Given the description of an element on the screen output the (x, y) to click on. 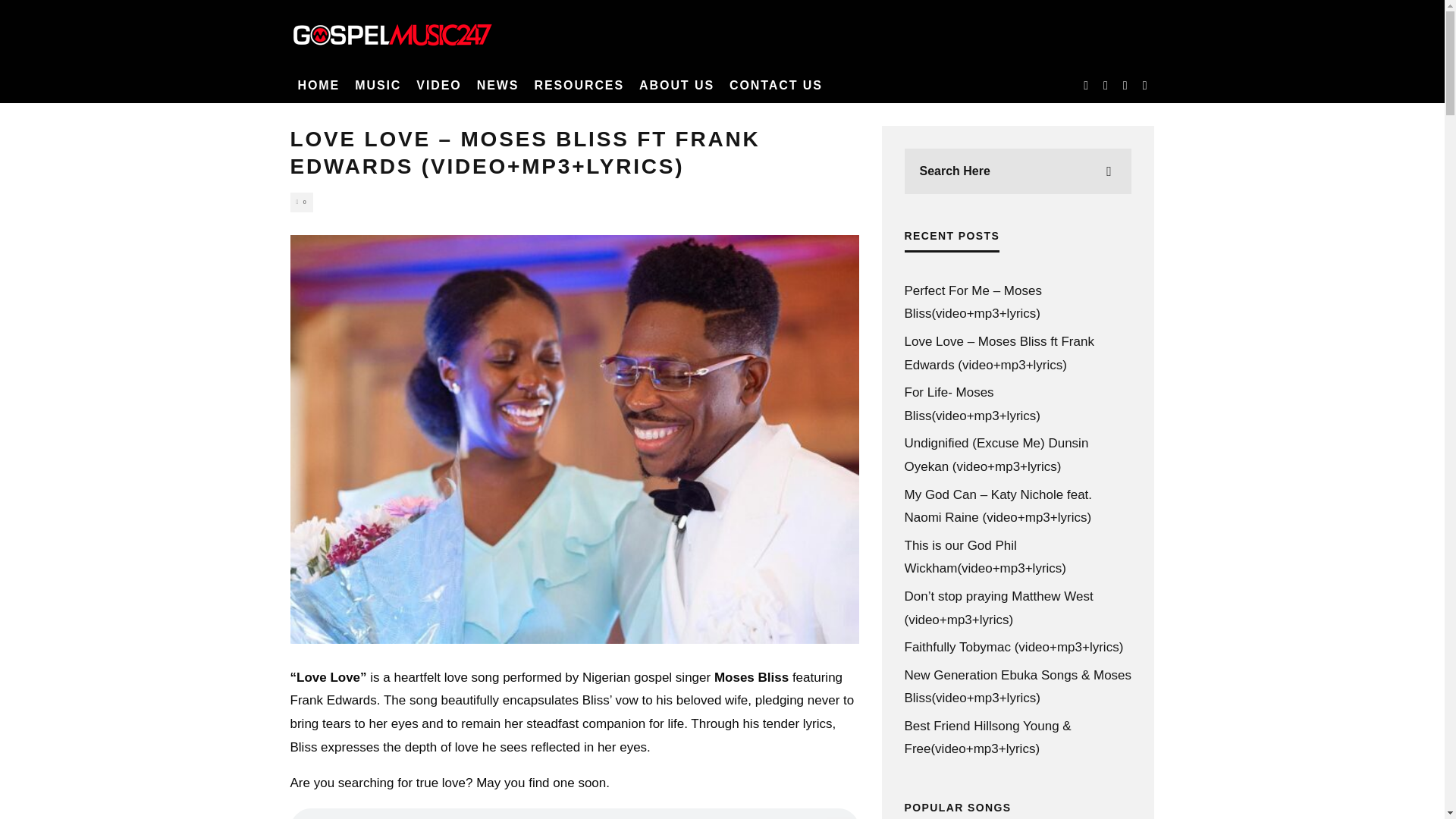
NEWS (497, 85)
HOME (318, 85)
CONTACT US (775, 85)
RESOURCES (578, 85)
ABOUT US (676, 85)
VIDEO (438, 85)
MUSIC (378, 85)
0 (301, 202)
